Given the description of an element on the screen output the (x, y) to click on. 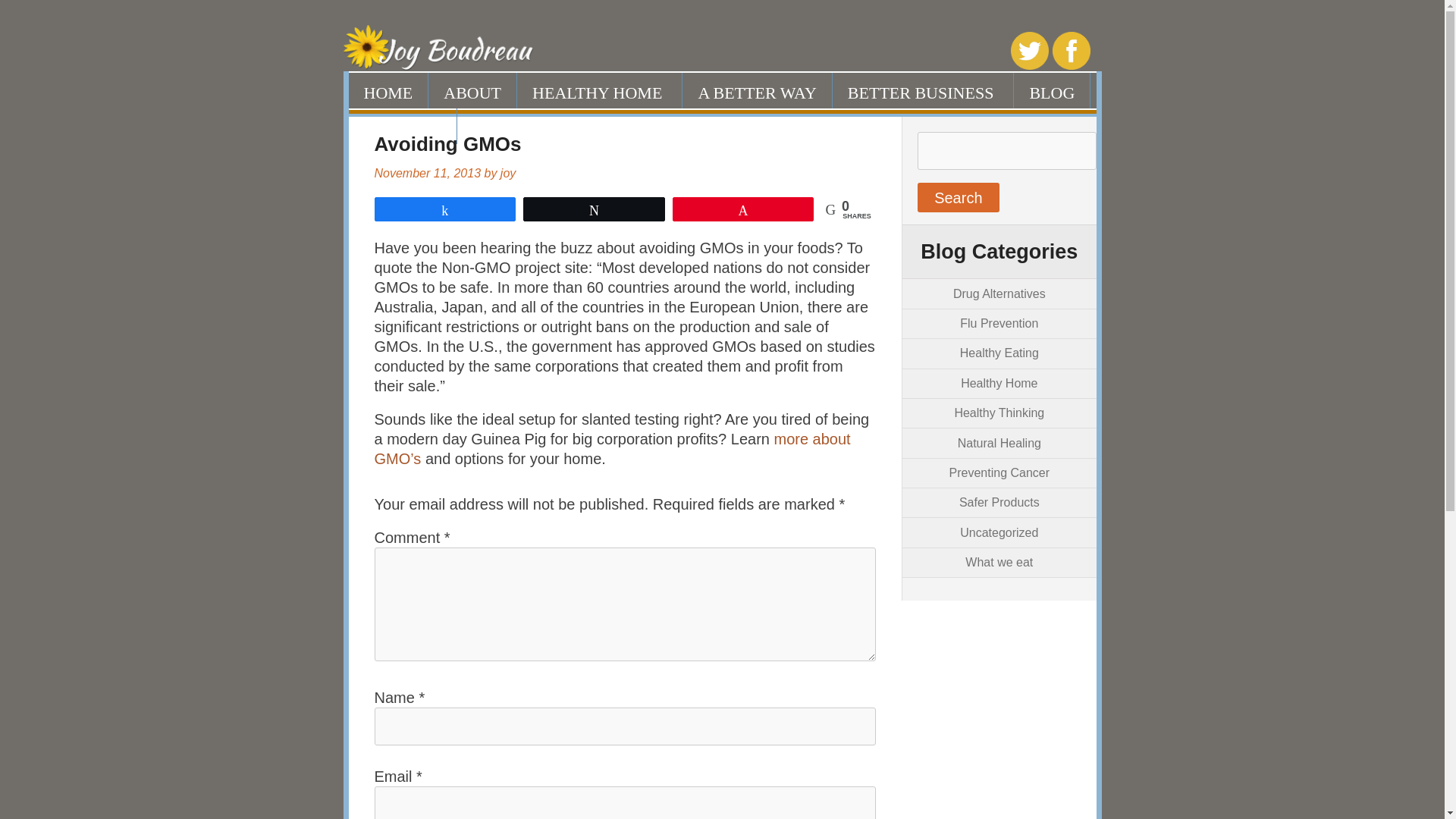
CONTACT (403, 126)
BETTER BUSINESS (923, 90)
Natural Healing (999, 442)
Healthy Home (998, 382)
Safer Products (999, 502)
Healthy Thinking (998, 412)
Healthy Eating (999, 352)
Uncategorized (998, 532)
Search (957, 197)
BLOG (1051, 90)
